Given the description of an element on the screen output the (x, y) to click on. 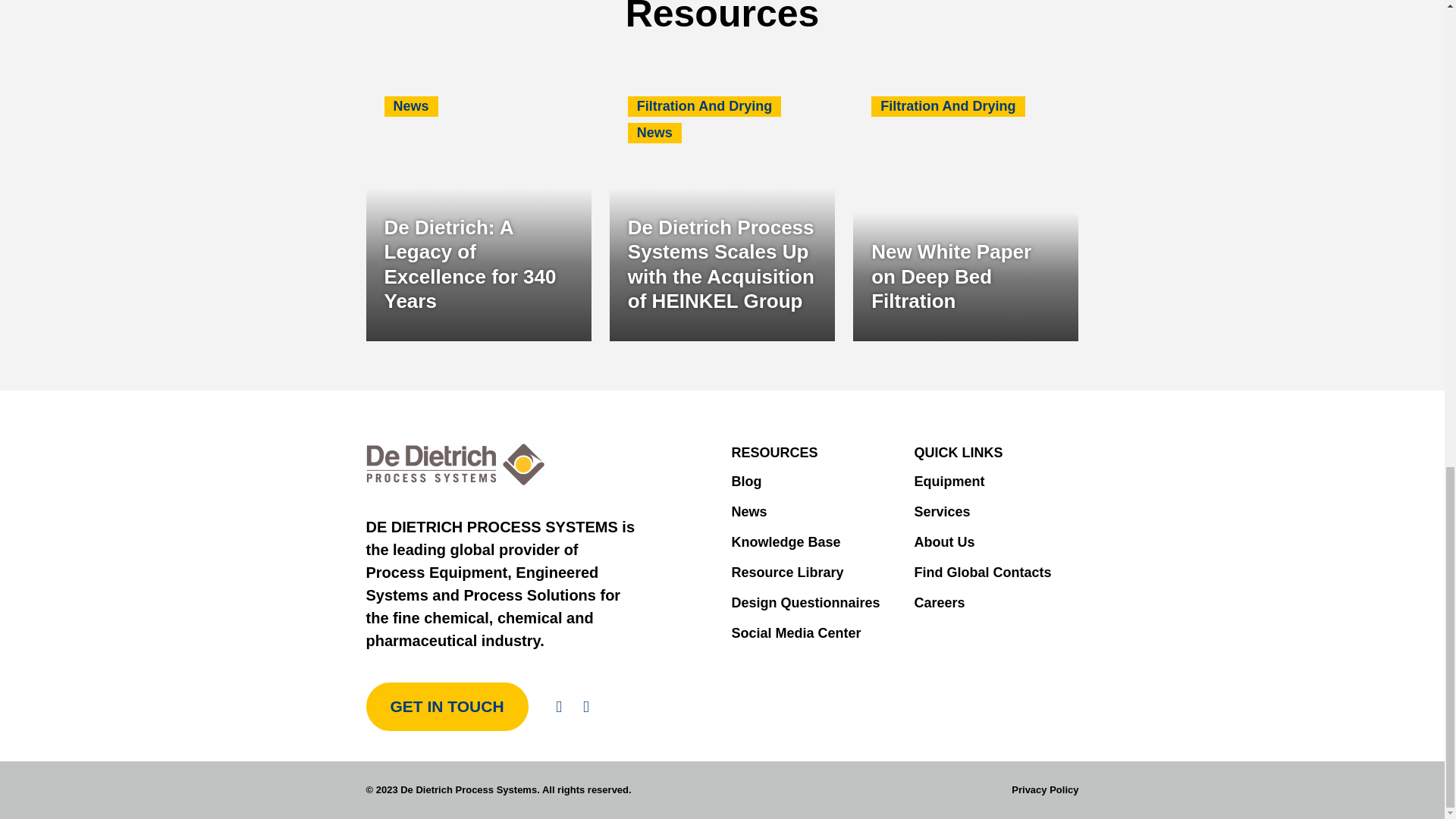
De Dietrich Process System (454, 464)
